Given the description of an element on the screen output the (x, y) to click on. 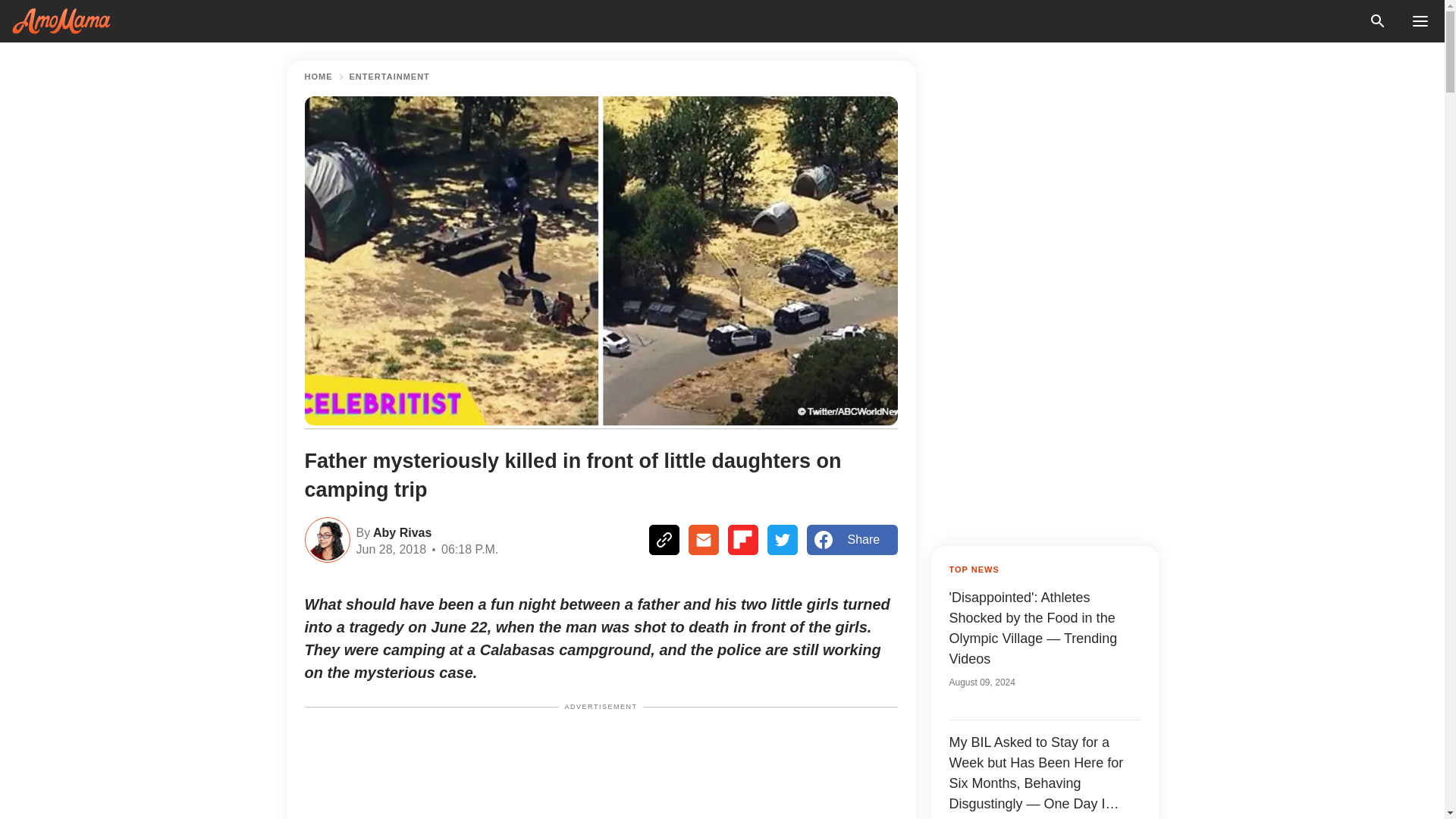
ENTERTAINMENT (389, 76)
Aby Rivas (399, 531)
HOME (318, 76)
